Given the description of an element on the screen output the (x, y) to click on. 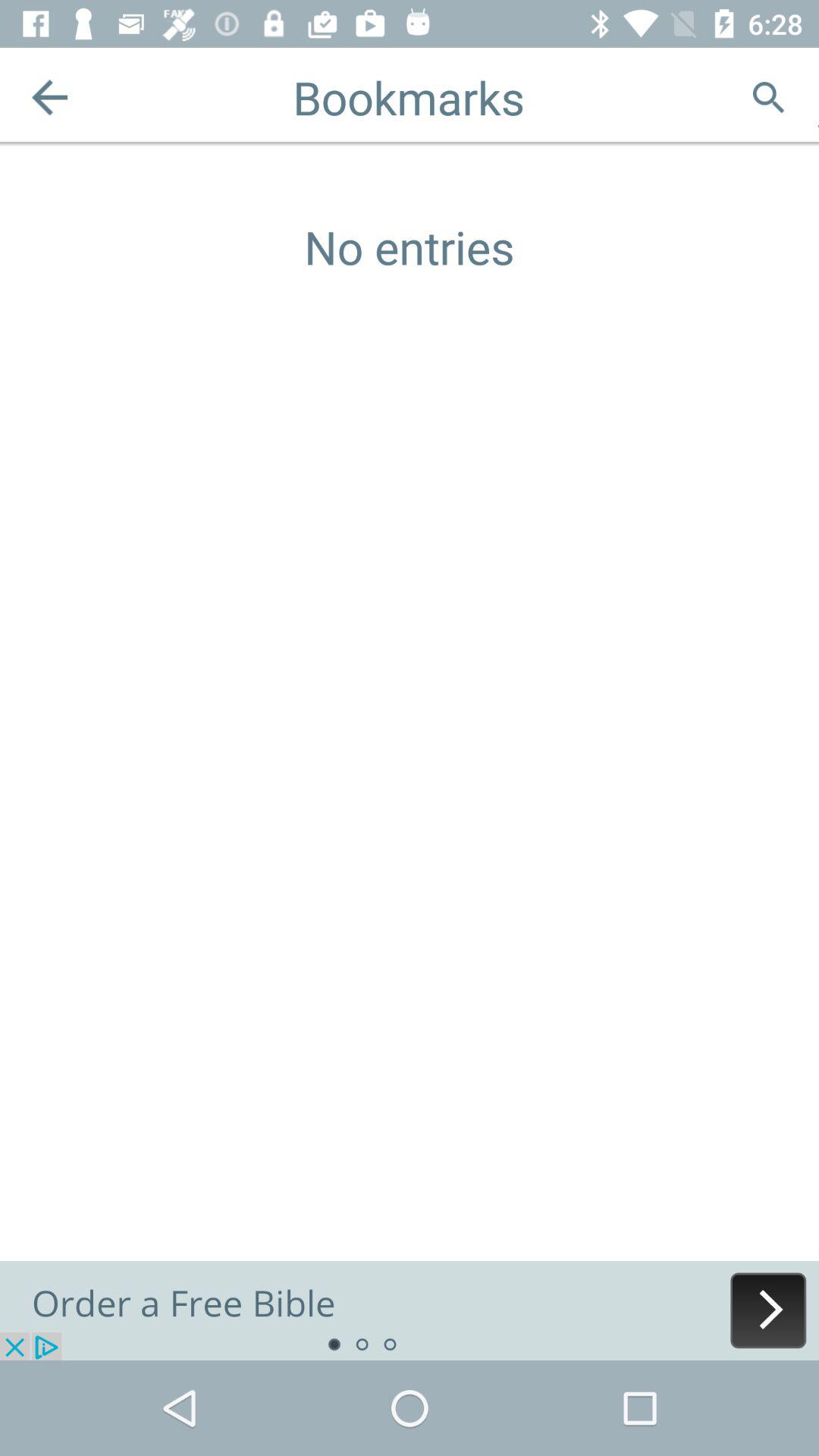
search (768, 97)
